Given the description of an element on the screen output the (x, y) to click on. 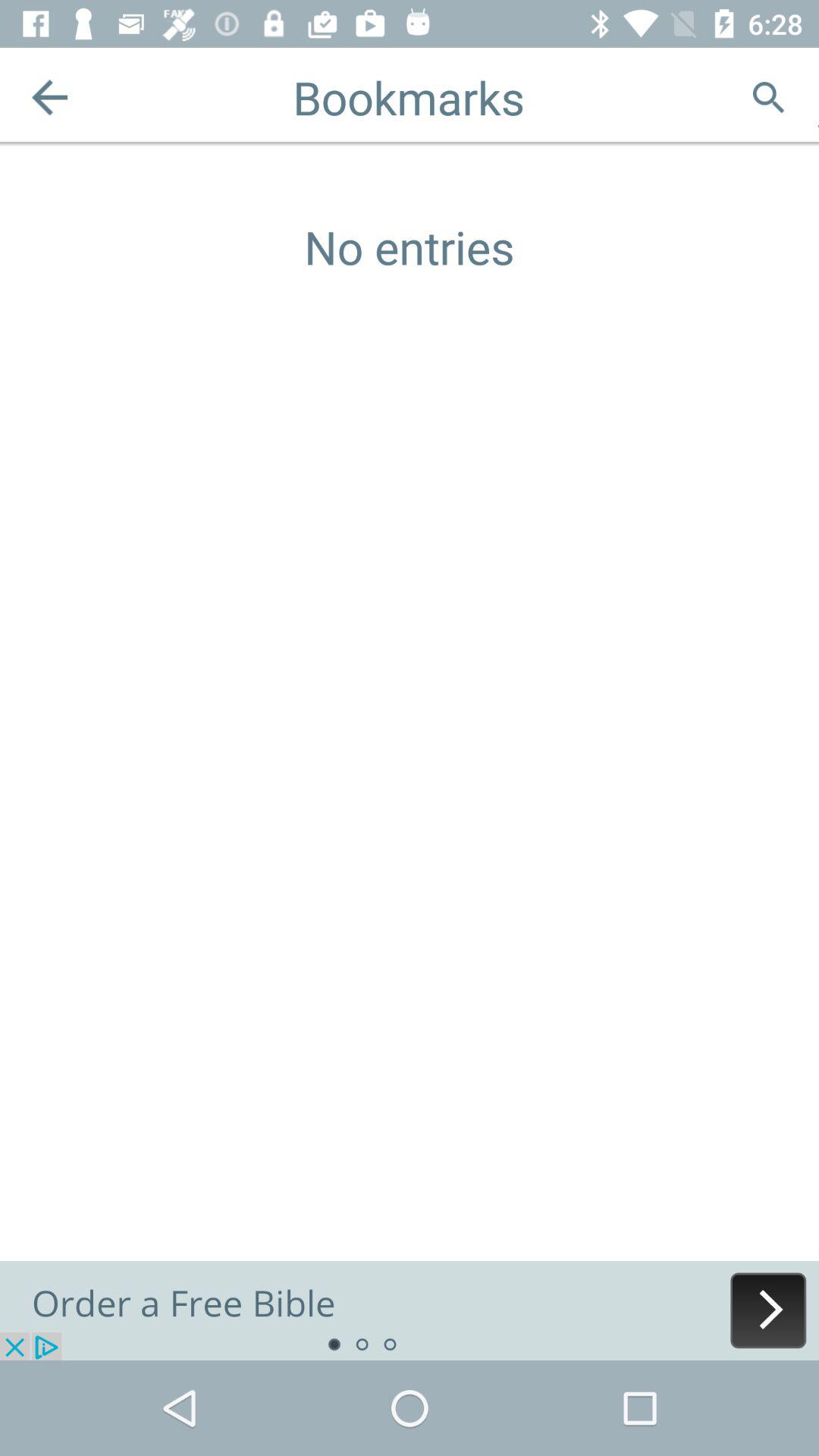
search (768, 97)
